Given the description of an element on the screen output the (x, y) to click on. 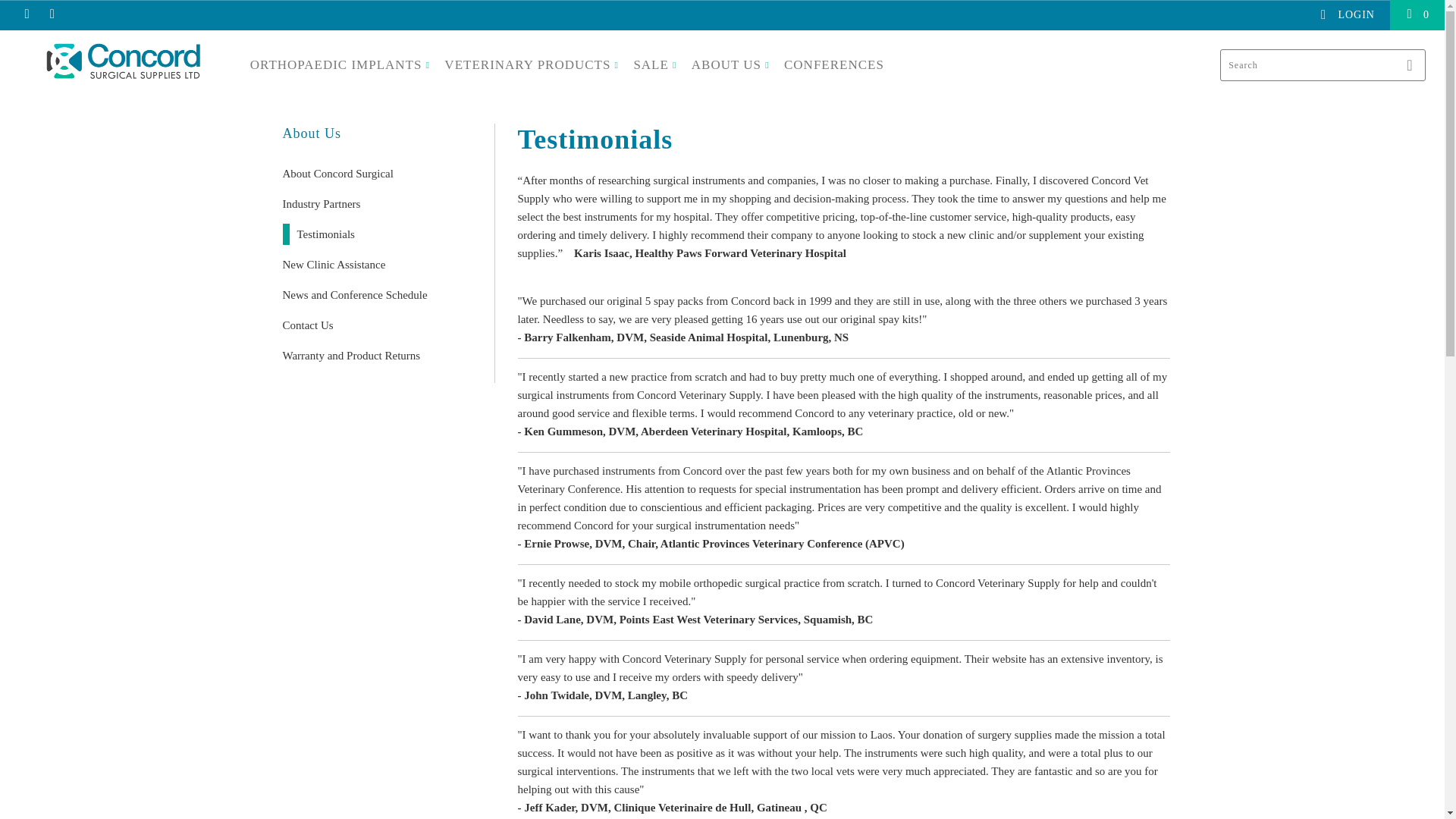
Concord Surgical on Twitter (25, 14)
Concord Surgical on Facebook (51, 14)
My Account  (1347, 15)
Concord Surgical (122, 60)
